Given the description of an element on the screen output the (x, y) to click on. 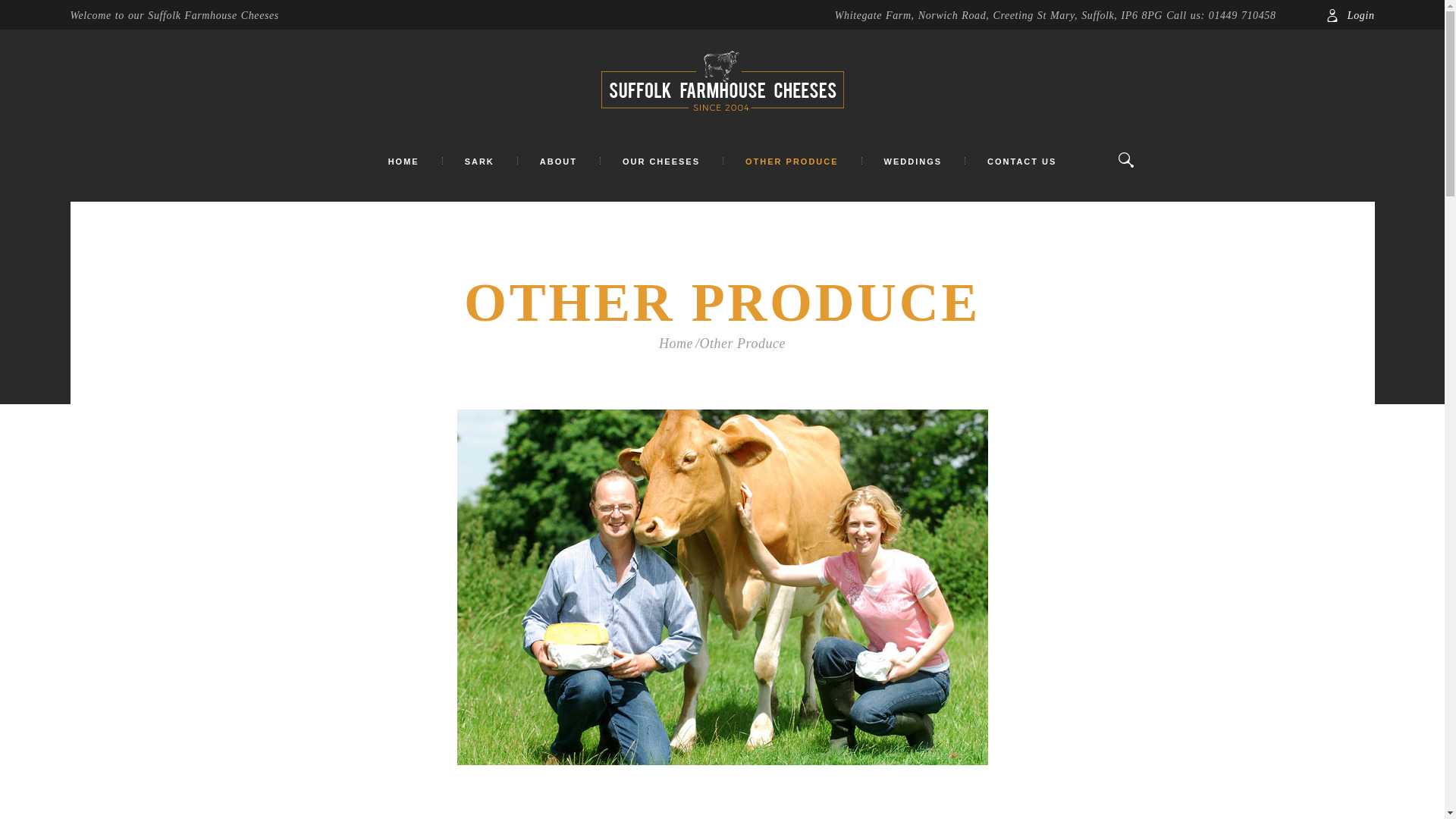
HOME (403, 161)
SARK (479, 161)
OTHER PRODUCE (791, 161)
ABOUT (557, 161)
WEDDINGS (913, 161)
CONTACT US (1020, 161)
Login (1350, 15)
OUR CHEESES (660, 161)
Home (676, 342)
